Given the description of an element on the screen output the (x, y) to click on. 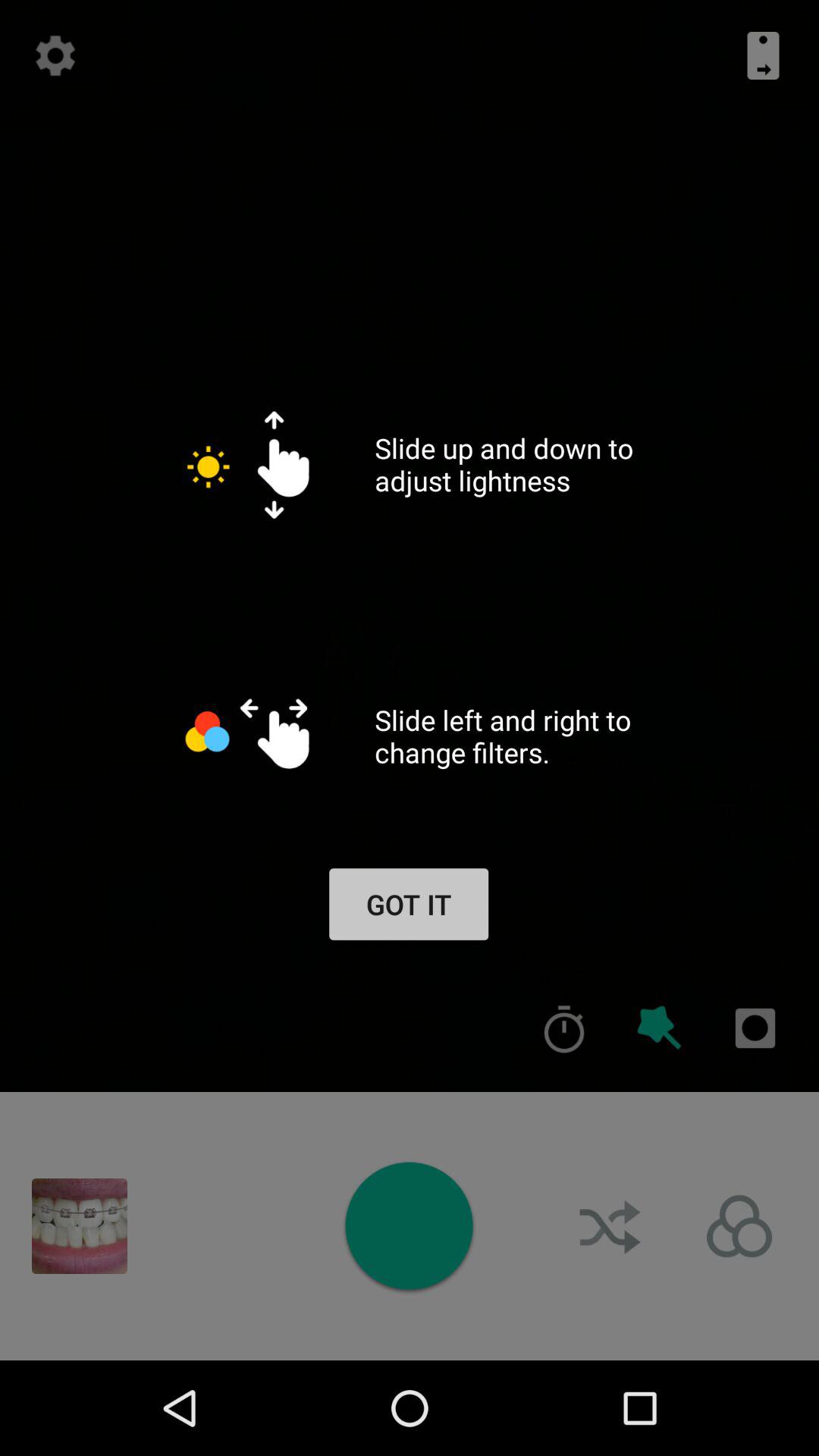
launch the app below slide left and (563, 1028)
